Given the description of an element on the screen output the (x, y) to click on. 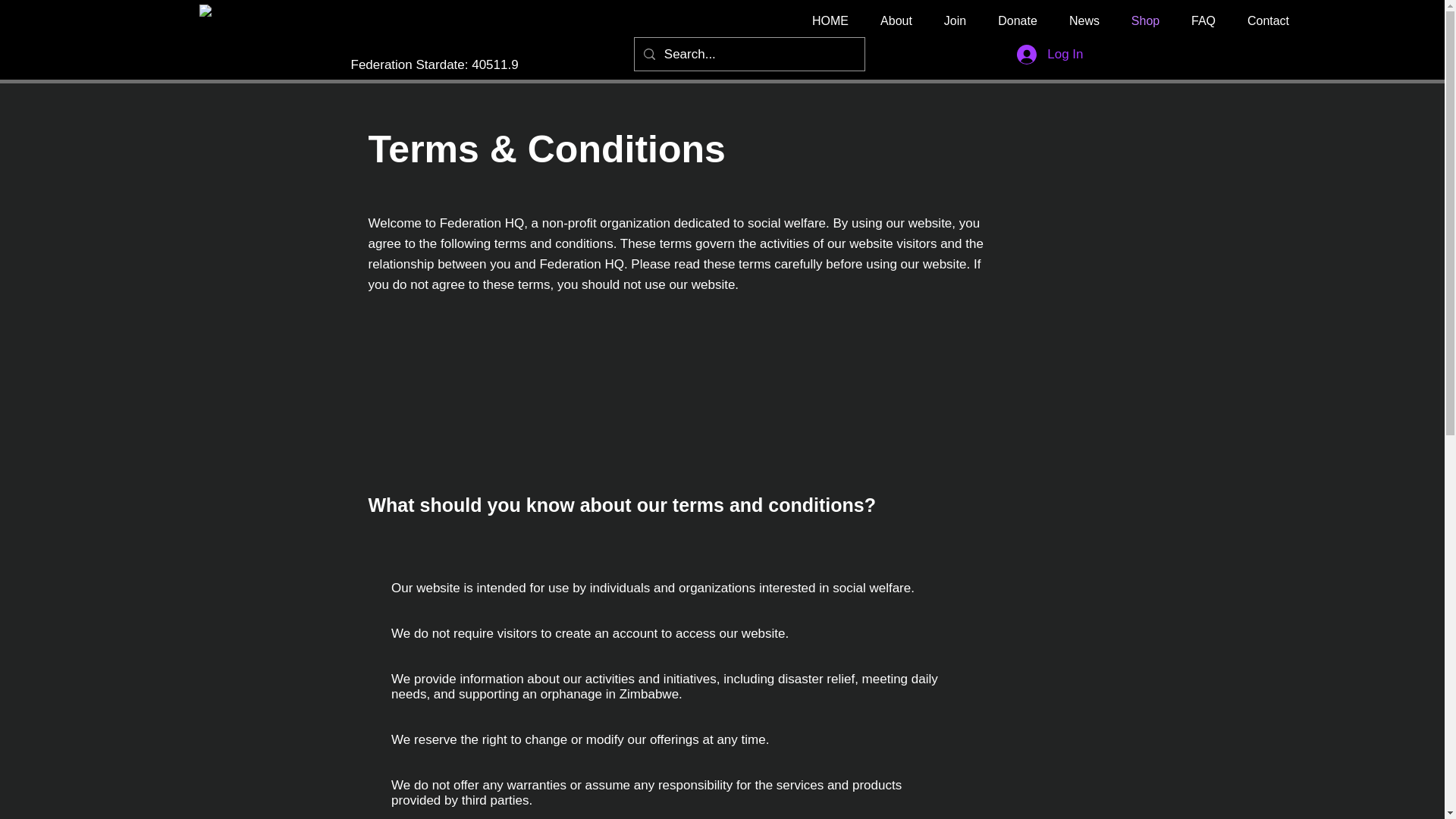
Donate (1016, 20)
Contact (1267, 20)
FAQ (1202, 20)
logo 750.png (248, 20)
Log In (1049, 54)
News (1083, 20)
About (896, 20)
Shop (1144, 20)
HOME (830, 20)
Join (954, 20)
